Given the description of an element on the screen output the (x, y) to click on. 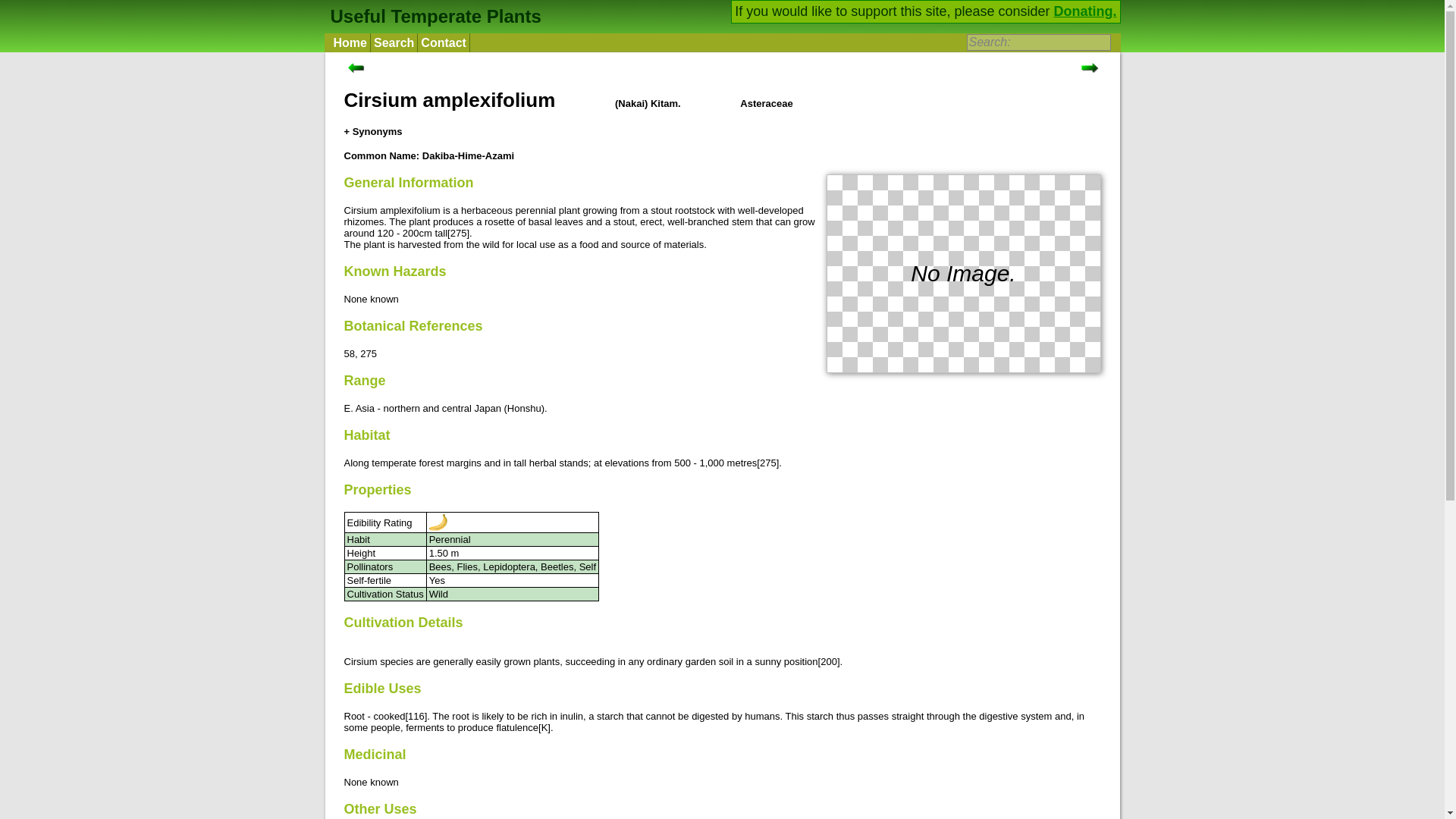
Donating. (1085, 11)
Search: (1037, 42)
275 (768, 462)
Search: (1037, 42)
Contact (443, 42)
275 (458, 233)
58 (349, 353)
275 (368, 353)
Home (350, 42)
Search (394, 42)
200 (829, 661)
K (544, 727)
Useful Temperate Plants (432, 15)
116 (416, 715)
